Given the description of an element on the screen output the (x, y) to click on. 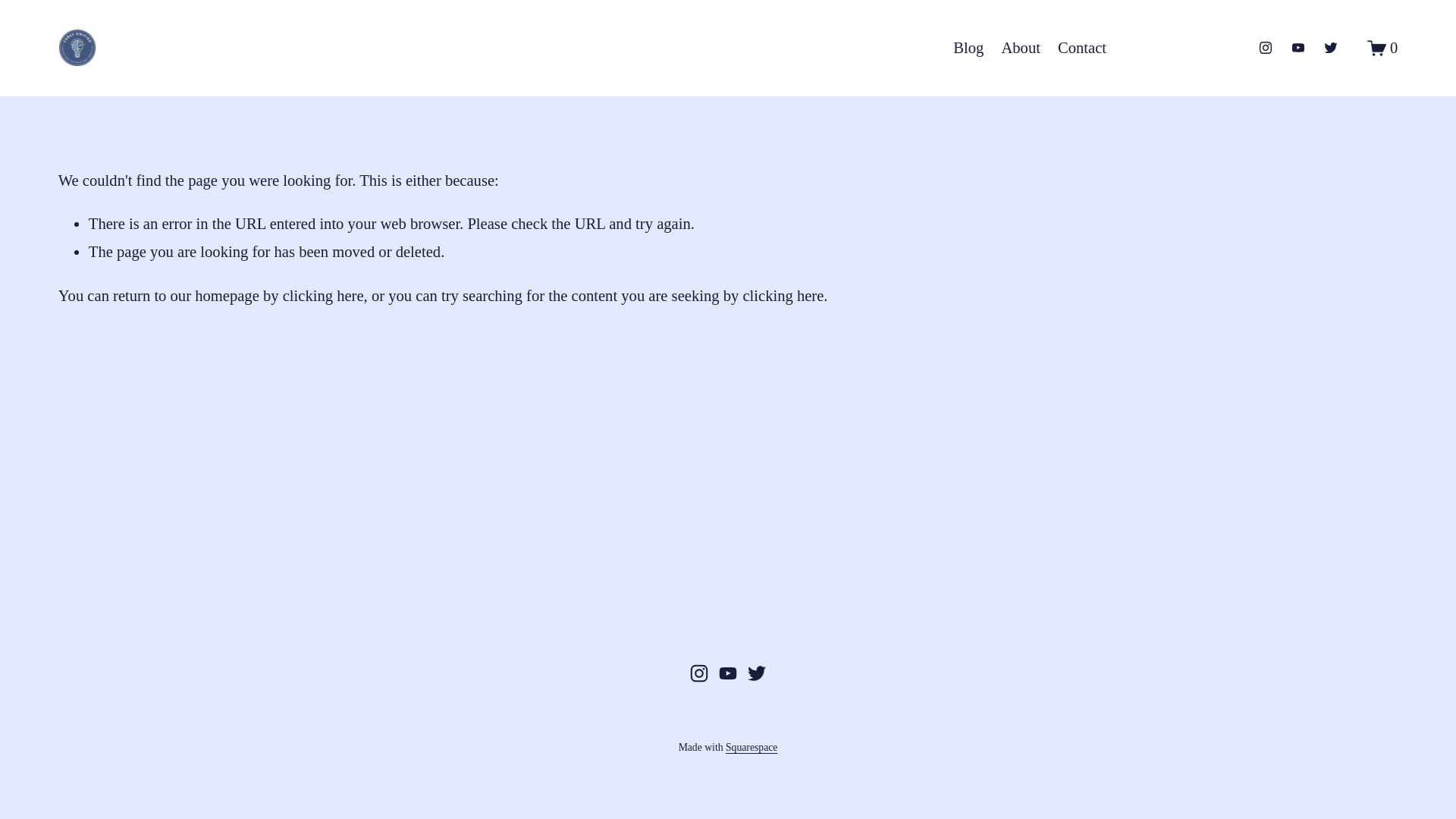
Contact (1082, 47)
Blog (968, 47)
Squarespace (751, 747)
About (1020, 47)
clicking here (323, 295)
clicking here (783, 295)
0 (1382, 47)
